Given the description of an element on the screen output the (x, y) to click on. 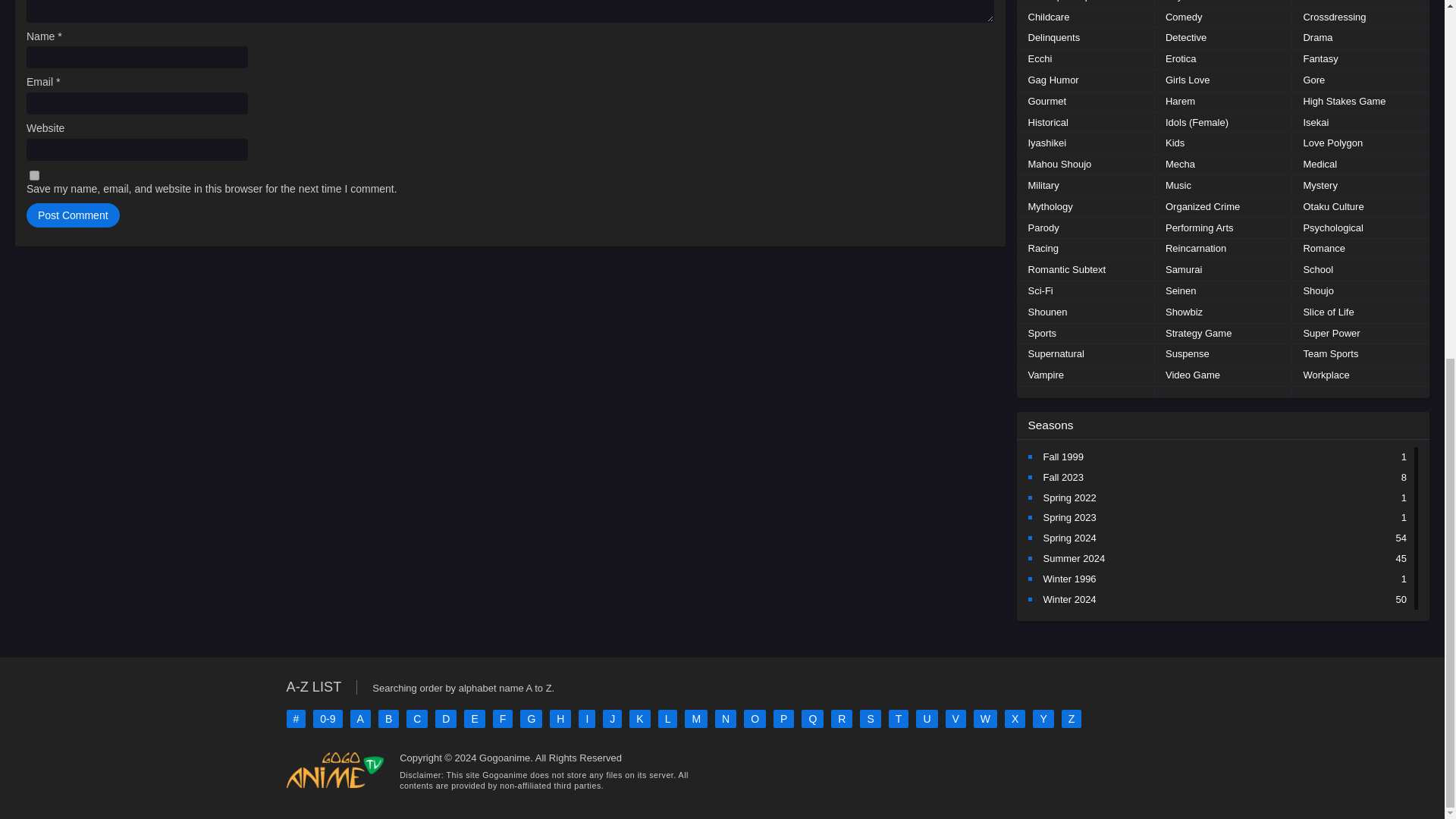
View all series in Anthropomorphic (1064, 3)
Post Comment (72, 215)
yes (34, 175)
